Given the description of an element on the screen output the (x, y) to click on. 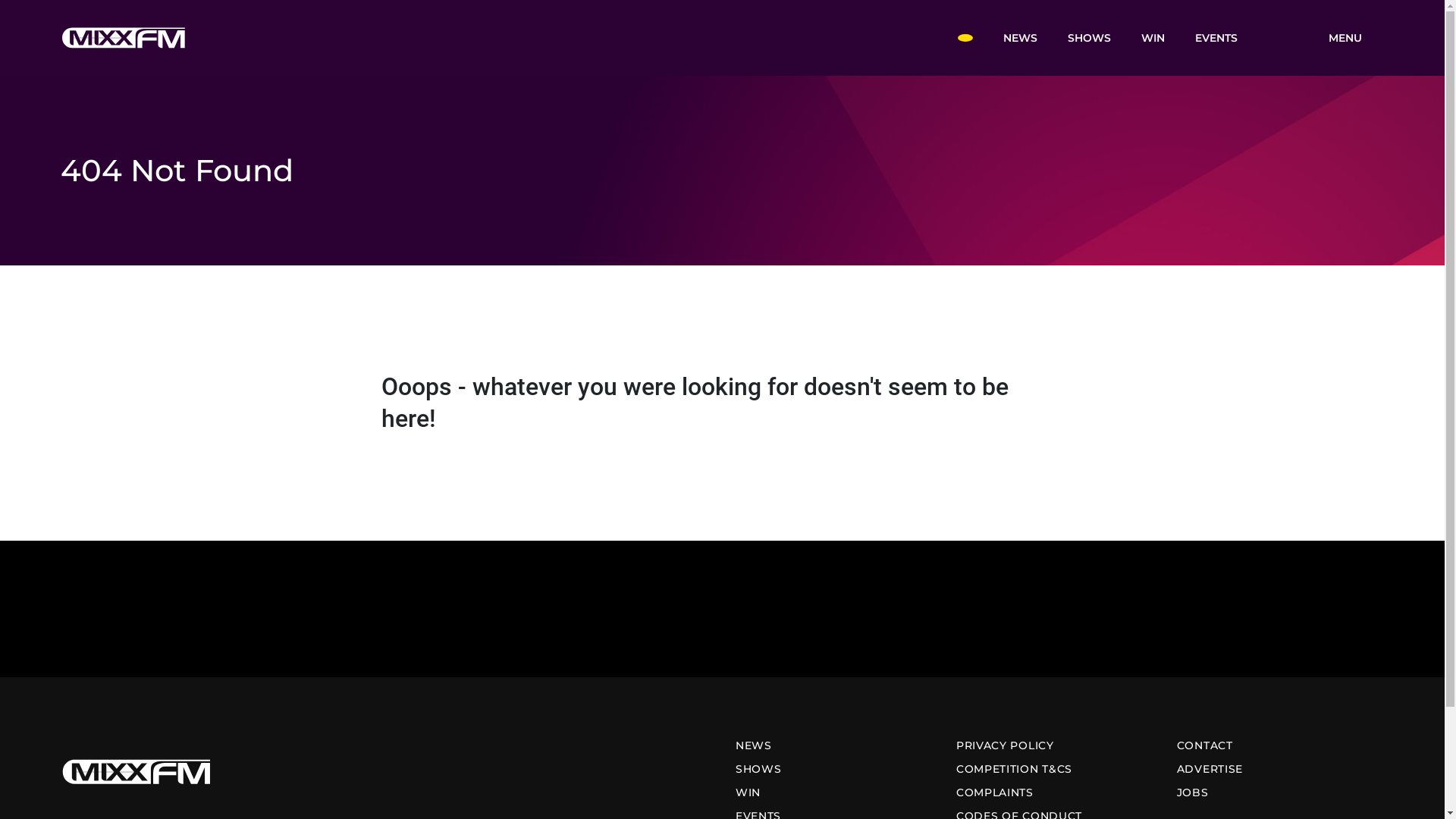
JOBS Element type: text (1192, 792)
NEWS Element type: text (753, 745)
EVENTS Element type: text (1215, 36)
CONTACT Element type: text (1204, 745)
WIN Element type: text (1152, 36)
SHOWS Element type: text (1089, 36)
SHOWS Element type: text (758, 768)
WIN Element type: text (747, 792)
COMPETITION T&CS Element type: text (1014, 768)
ADVERTISE Element type: text (1209, 768)
COMPLAINTS Element type: text (994, 792)
PRIVACY POLICY Element type: text (1005, 745)
NEWS Element type: text (1019, 36)
